Given the description of an element on the screen output the (x, y) to click on. 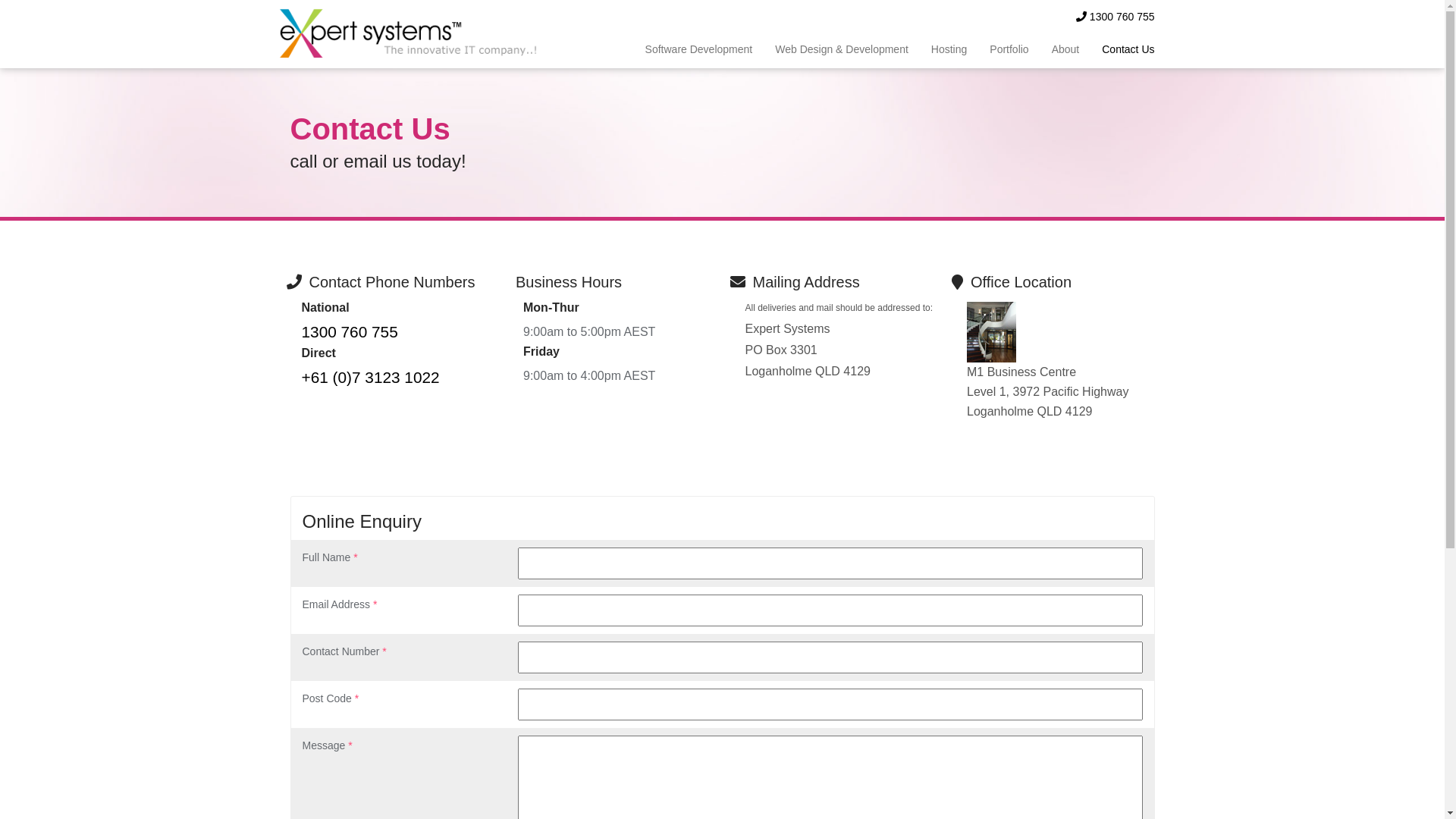
Web Design & Development Element type: text (841, 49)
Portfolio Element type: text (1008, 49)
About Element type: text (1065, 49)
Hosting Element type: text (948, 49)
1300 760 755 Element type: text (1115, 16)
Contact Us Element type: text (1122, 49)
Software Development Element type: text (698, 49)
1300 760 755 Element type: text (349, 331)
+61 (0)7 3123 1022 Element type: text (370, 376)
